Given the description of an element on the screen output the (x, y) to click on. 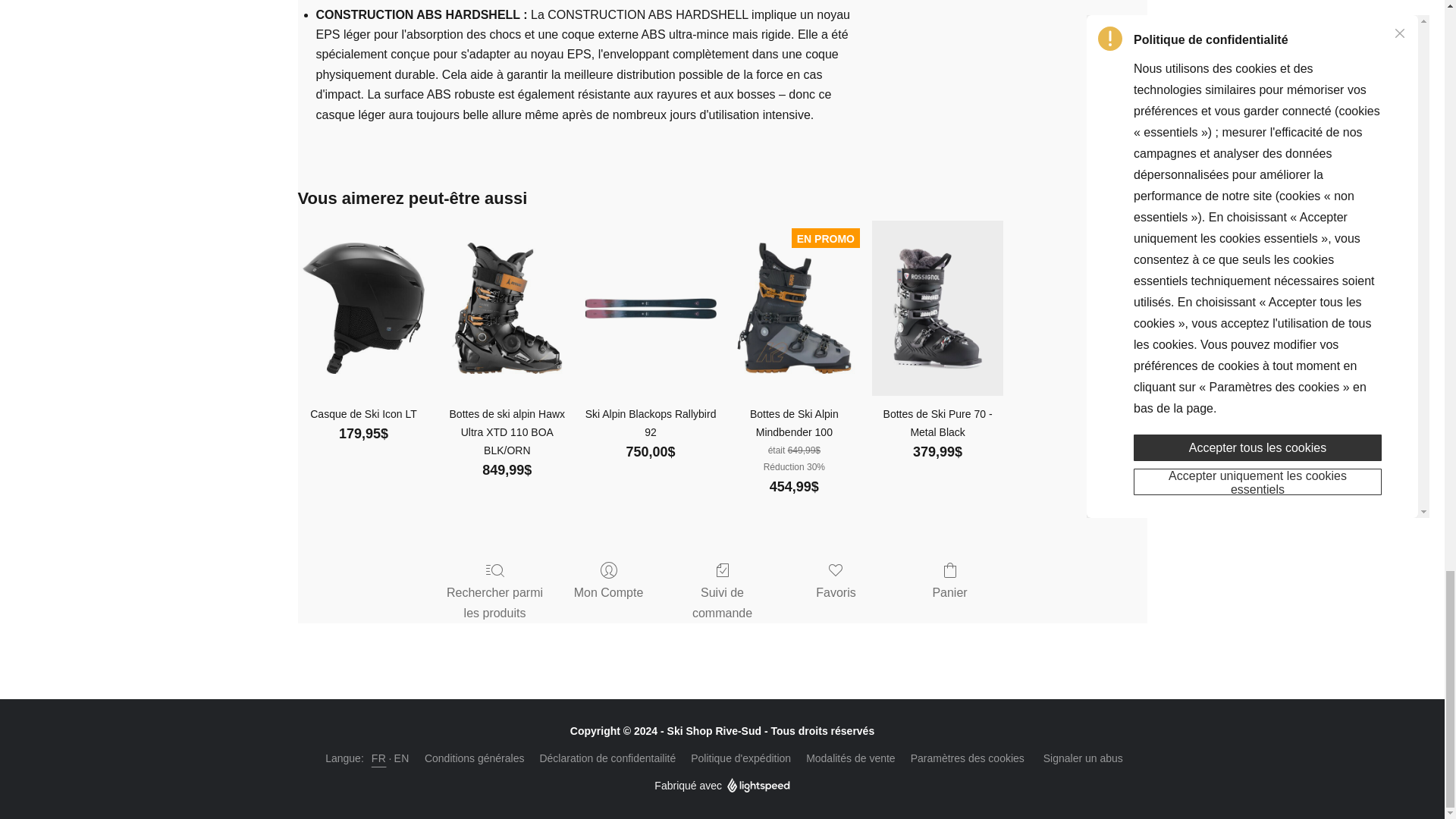
Ski Alpin Blackops Rallybird 92 (650, 308)
Casque de Ski Icon LT (363, 307)
Bottes de Ski Pure 70 - Metal Black (937, 307)
Ski Alpin Blackops Rallybird 92 (650, 422)
Bottes de Ski Alpin Mindbender 100 (794, 422)
Bottes de Ski Alpin Mindbender 100 (794, 307)
Casque de Ski Icon LT (363, 413)
